Given the description of an element on the screen output the (x, y) to click on. 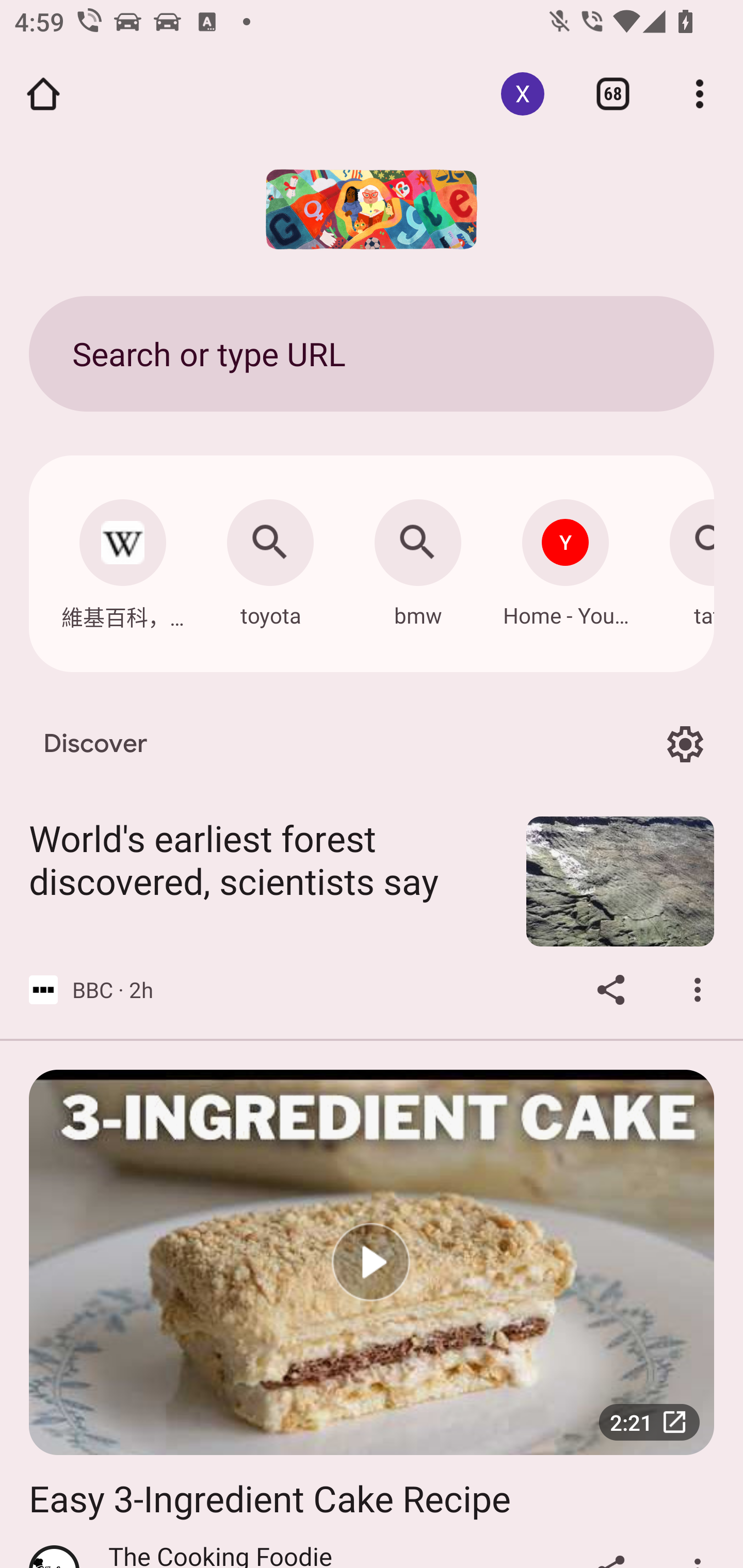
Open the home page (43, 93)
Switch or close tabs (612, 93)
Customize and control Google Chrome (699, 93)
Google doodle: International Women's Day 2024 (371, 209)
Search or type URL (371, 353)
Search: toyota toyota (270, 558)
Search: bmw bmw (417, 558)
Options for Discover (684, 743)
